Given the description of an element on the screen output the (x, y) to click on. 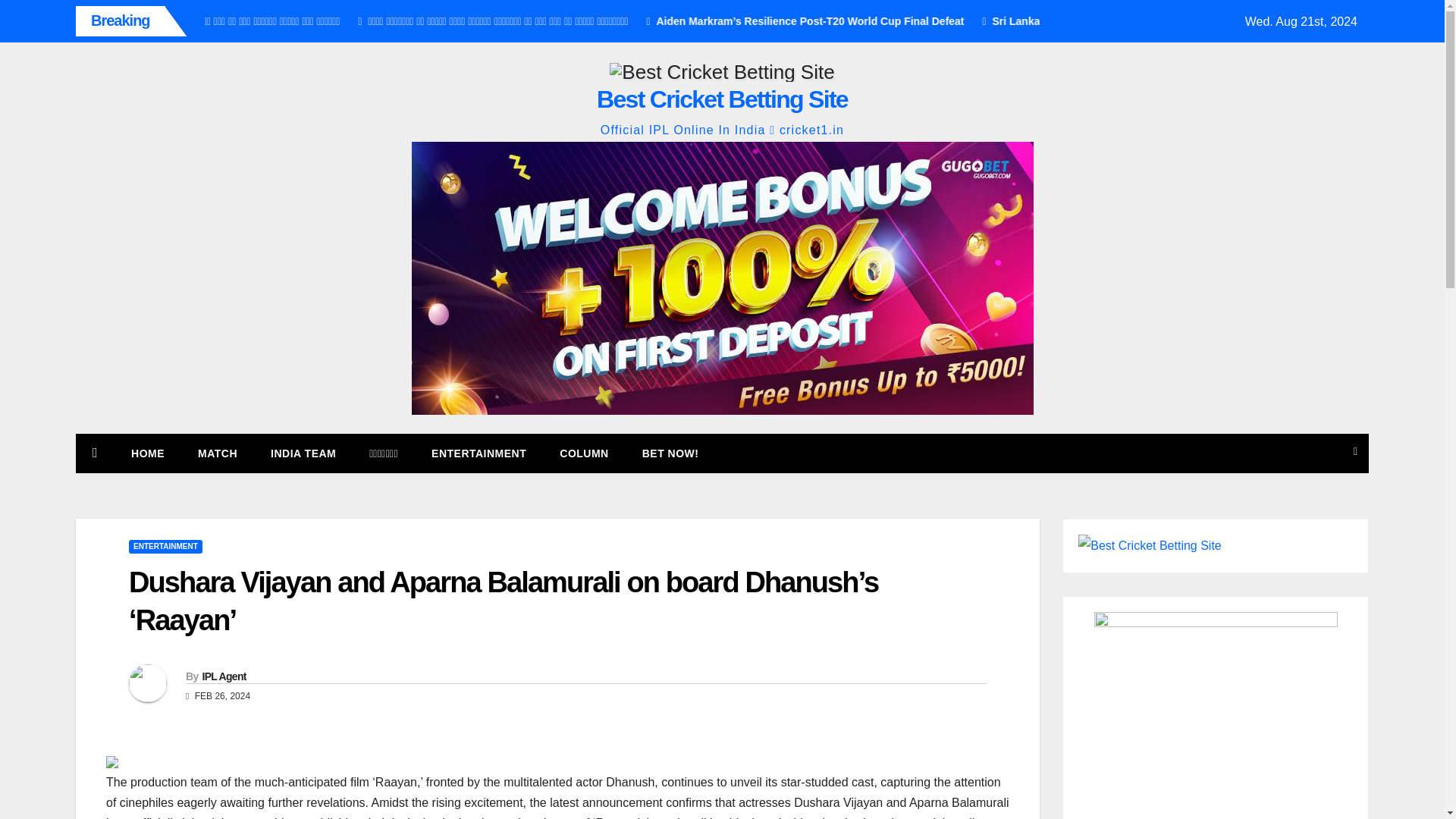
INDIA TEAM (302, 453)
HOME (147, 453)
Bet Now! (671, 453)
Column (583, 453)
MATCH (216, 453)
India Team (302, 453)
Home (147, 453)
ENTERTAINMENT (478, 453)
ENTERTAINMENT (165, 546)
IPL Agent (224, 676)
